Given the description of an element on the screen output the (x, y) to click on. 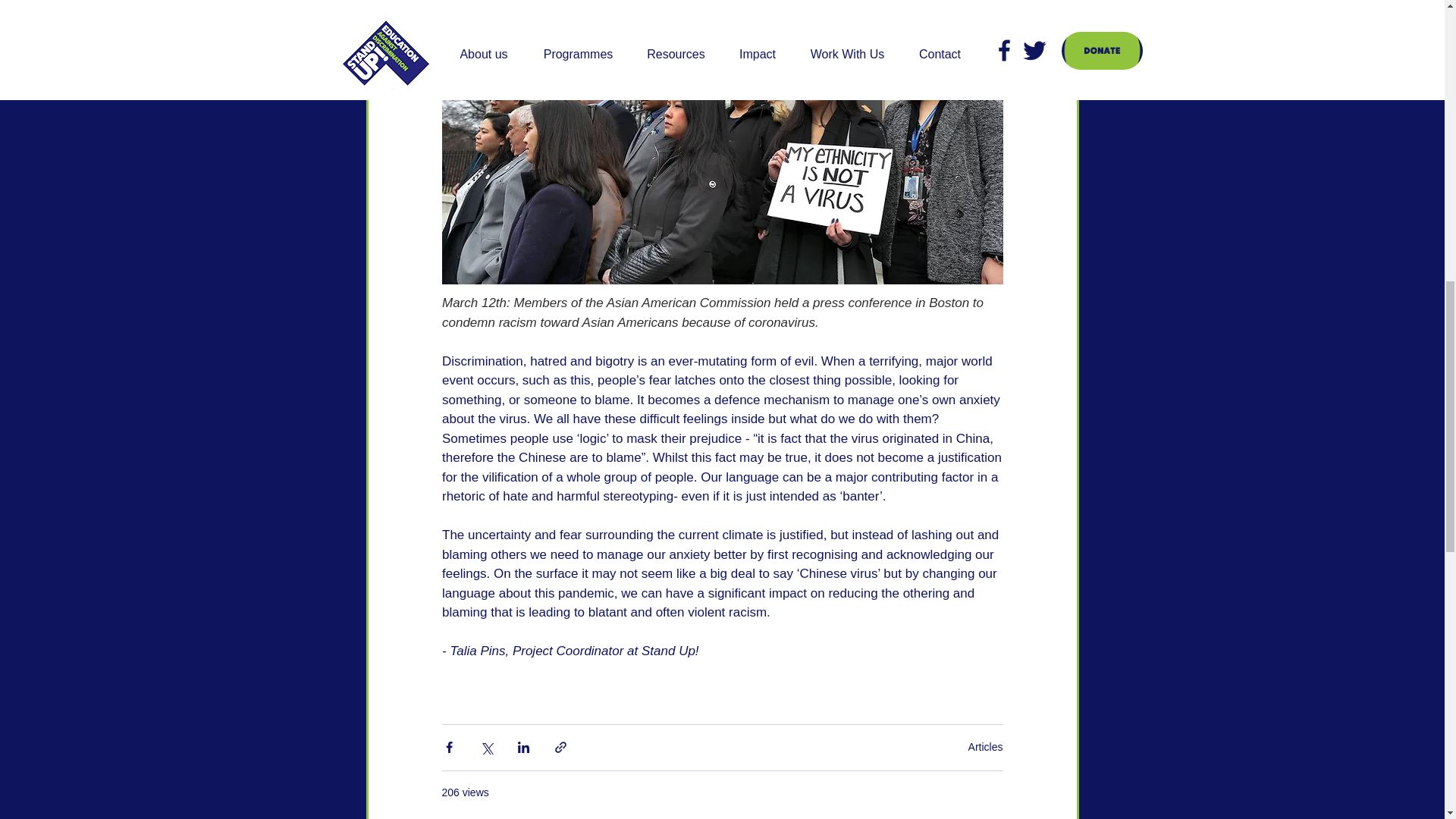
Articles (985, 746)
